Given the description of an element on the screen output the (x, y) to click on. 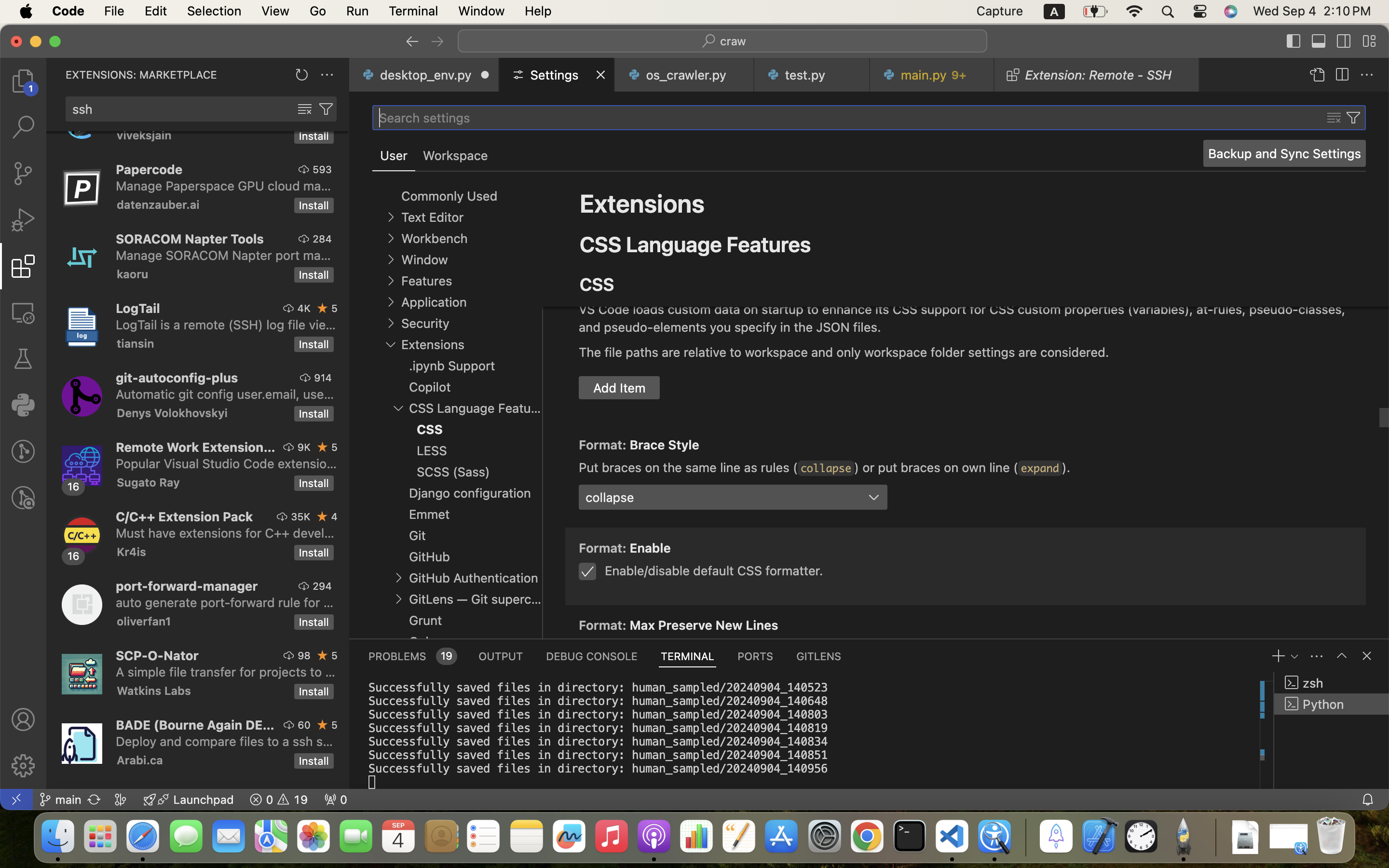
0 DEBUG CONSOLE Element type: AXRadioButton (591, 655)
SCSS (Sass) Element type: AXStaticText (453, 471)
 Element type: AXButton (437, 41)
 Element type: AXStaticText (304, 168)
Workbench Element type: AXStaticText (434, 238)
